Given the description of an element on the screen output the (x, y) to click on. 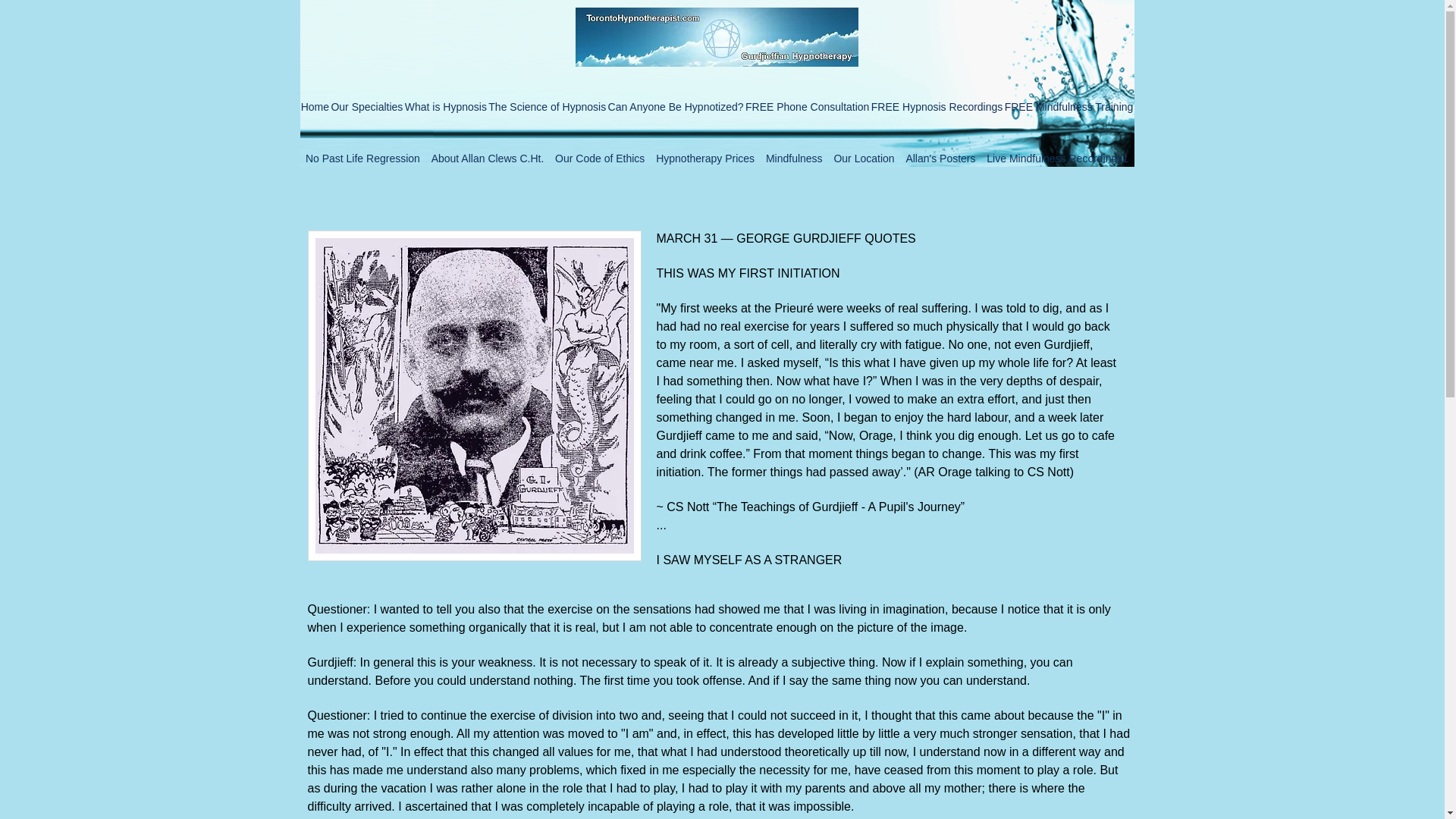
About Allan Clews C.Ht. (486, 158)
Can Anyone Be Hypnotized? (675, 106)
Our Location (863, 158)
Allan's Posters (940, 158)
Our Specialties (366, 106)
FREE Hypnosis Recordings (937, 106)
Our Code of Ethics (600, 158)
Live Mindfulness Recordings1 (1057, 158)
Hypnotherapy Prices (705, 158)
What is Hypnosis (445, 106)
